Given the description of an element on the screen output the (x, y) to click on. 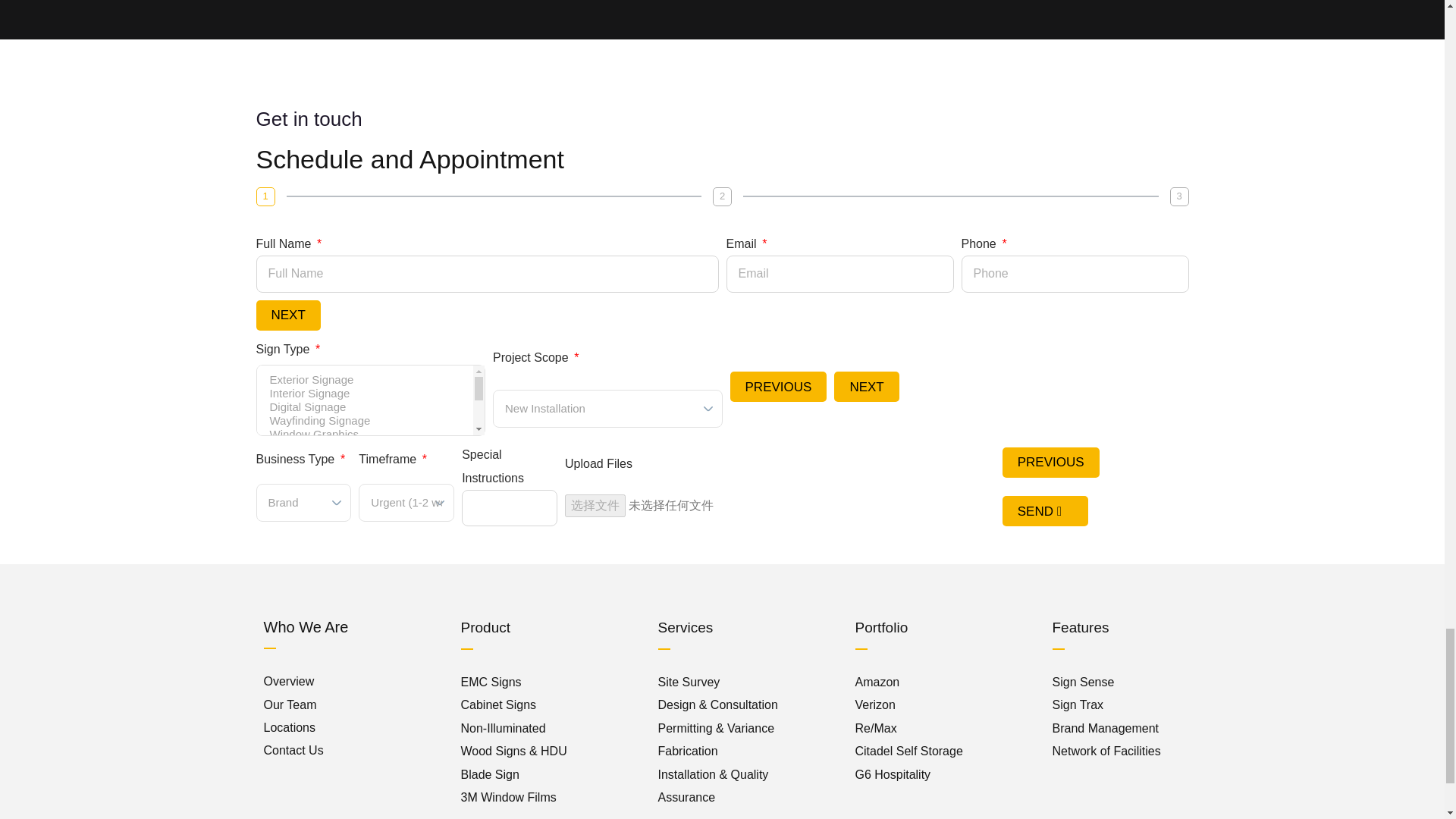
G6 Hospitality (893, 774)
Cabinet Signs (499, 704)
Blade Sign (490, 774)
Locations (289, 727)
EMC Signs (491, 681)
SEND (1045, 511)
3M Window Films (508, 797)
Site Survey (689, 681)
Our Team (290, 704)
Non-Illuminated (503, 727)
Contact Us (293, 749)
Fabrication (687, 750)
Amazon (877, 681)
NEXT (288, 315)
Verizon (875, 704)
